Given the description of an element on the screen output the (x, y) to click on. 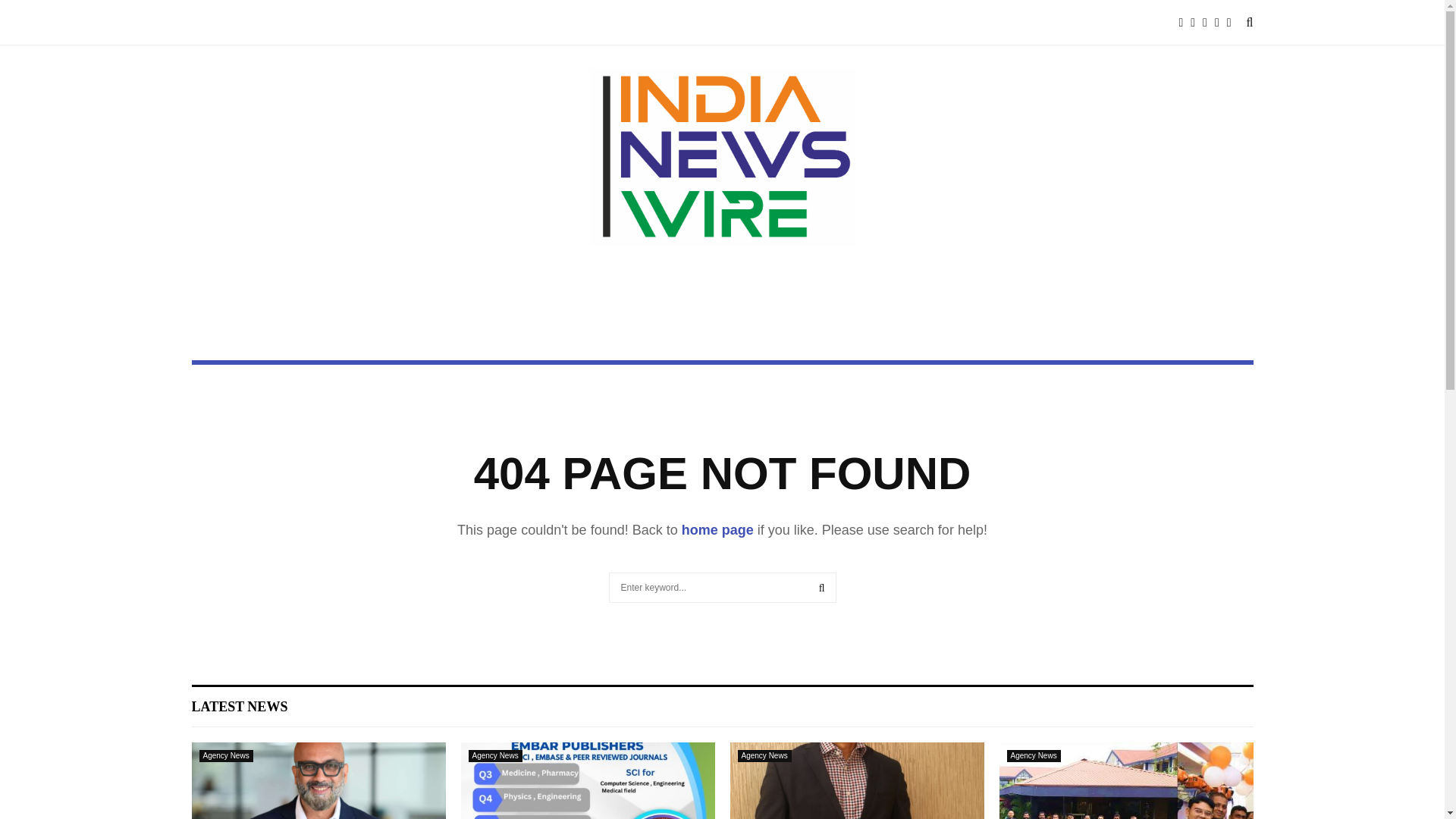
ASTROLOGY (484, 22)
SEARCH (821, 587)
Agency News (1034, 756)
View all posts in Agency News (495, 756)
View all posts in Agency News (763, 756)
Agency News (763, 756)
Agency News (224, 756)
Agency News (495, 756)
View all posts in Agency News (224, 756)
